Given the description of an element on the screen output the (x, y) to click on. 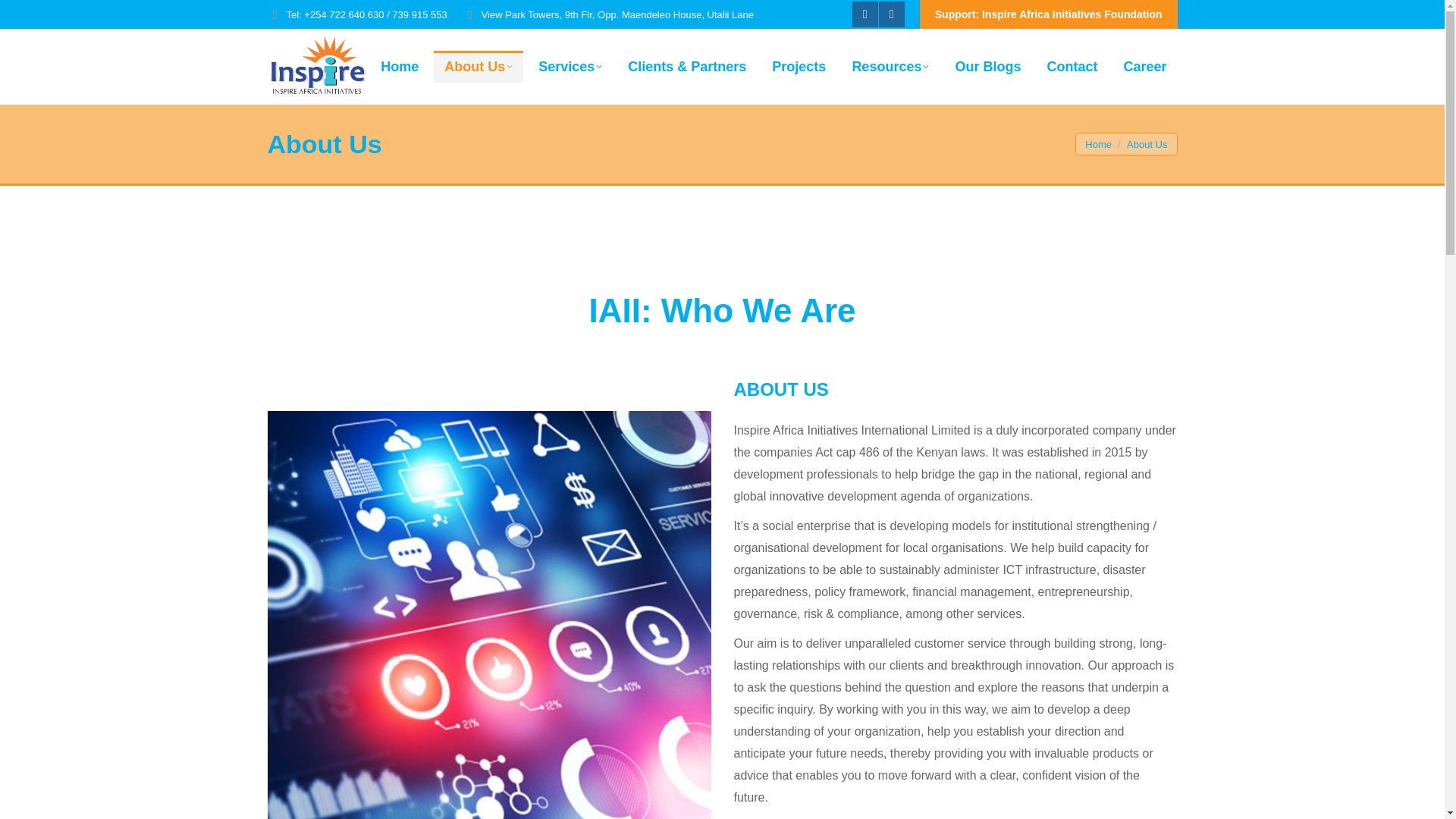
Resources (890, 66)
Home (399, 66)
Our Blogs (986, 66)
Facebook page opens in new window (864, 14)
Whatsapp page opens in new window (891, 14)
About Us (477, 66)
Support: Inspire Africa Initiatives Foundation (1048, 14)
Career (1144, 66)
Projects (798, 66)
Facebook page opens in new window (864, 14)
